Given the description of an element on the screen output the (x, y) to click on. 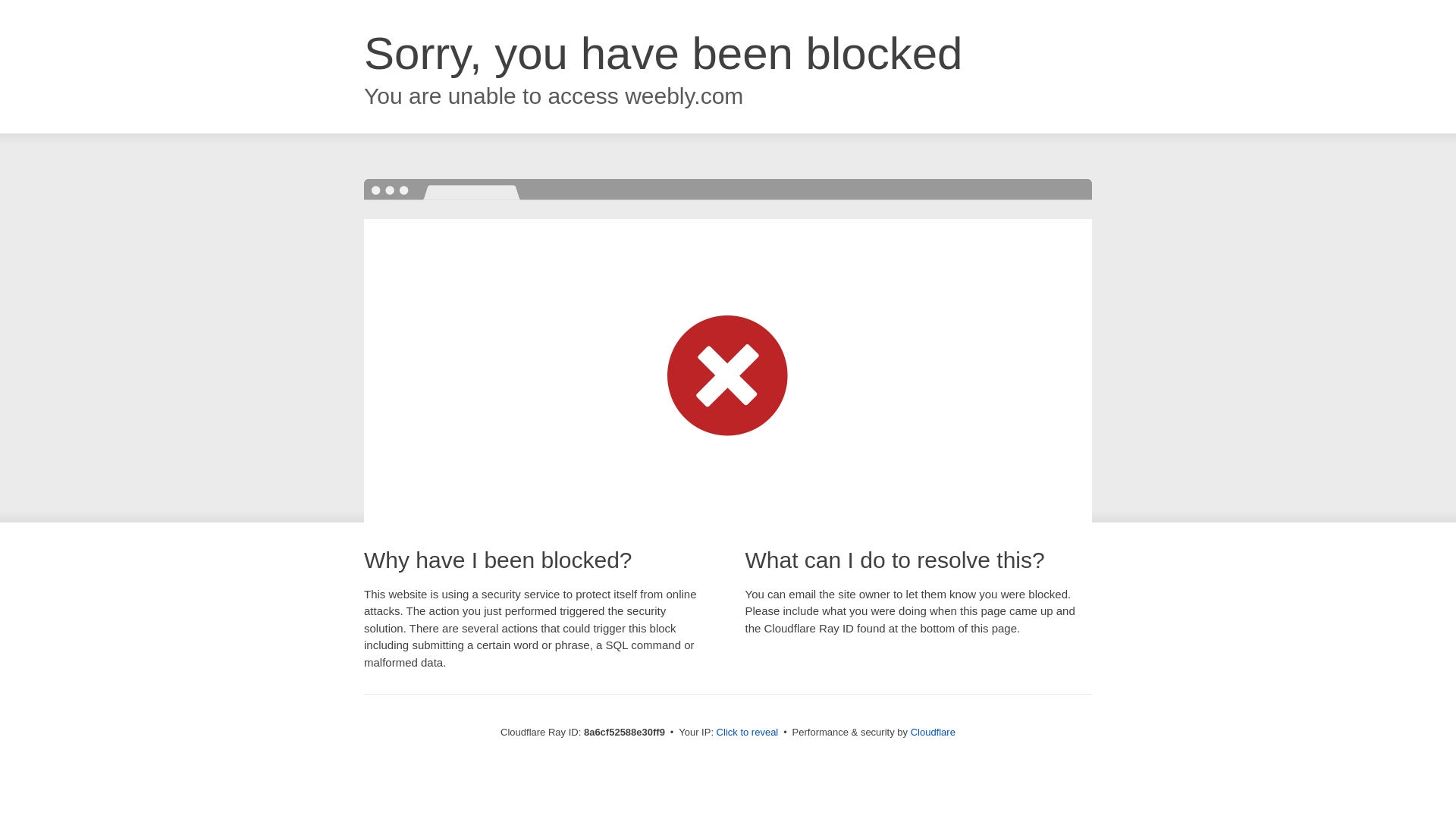
Cloudflare (933, 731)
Click to reveal (747, 732)
